Given the description of an element on the screen output the (x, y) to click on. 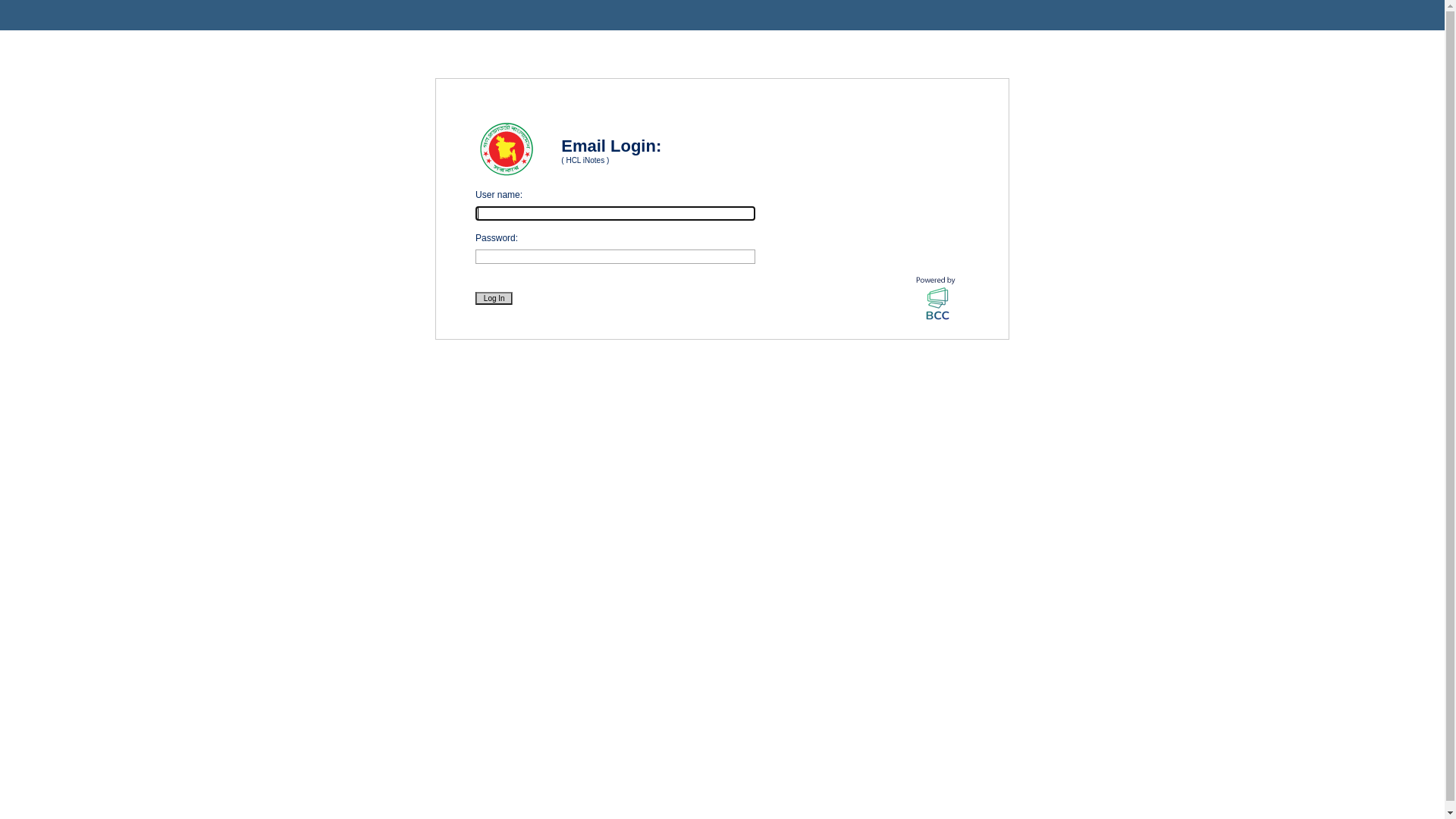
 Log In  Element type: text (493, 297)
